Given the description of an element on the screen output the (x, y) to click on. 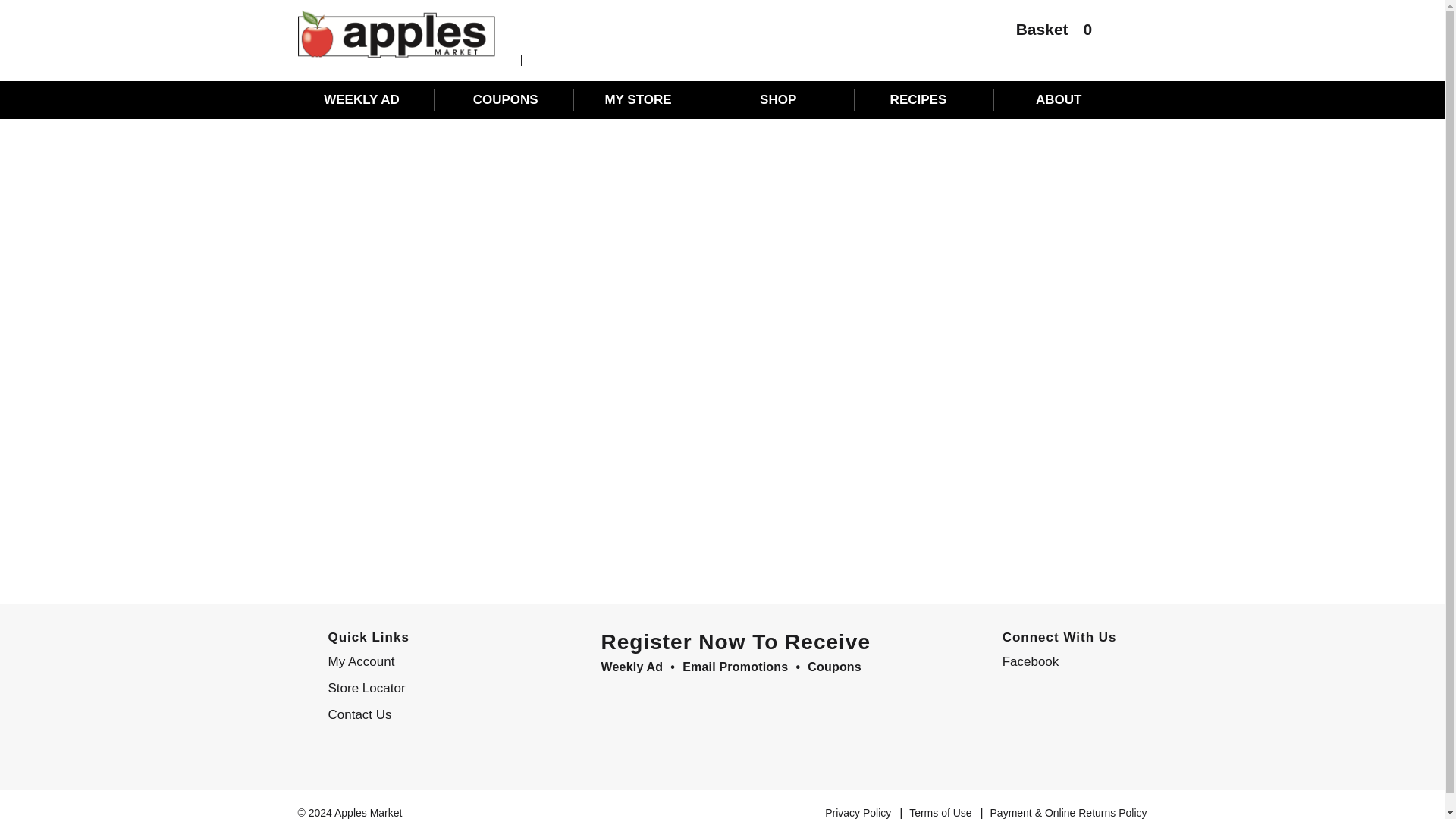
facebook (1055, 661)
MY STORE (646, 99)
Facebook (1055, 661)
RECIPES (925, 99)
Contact Us (420, 714)
My Account (420, 661)
Store Locator (420, 688)
WEEKLY AD (365, 99)
Basket0 (1047, 33)
COUPONS (505, 99)
